Given the description of an element on the screen output the (x, y) to click on. 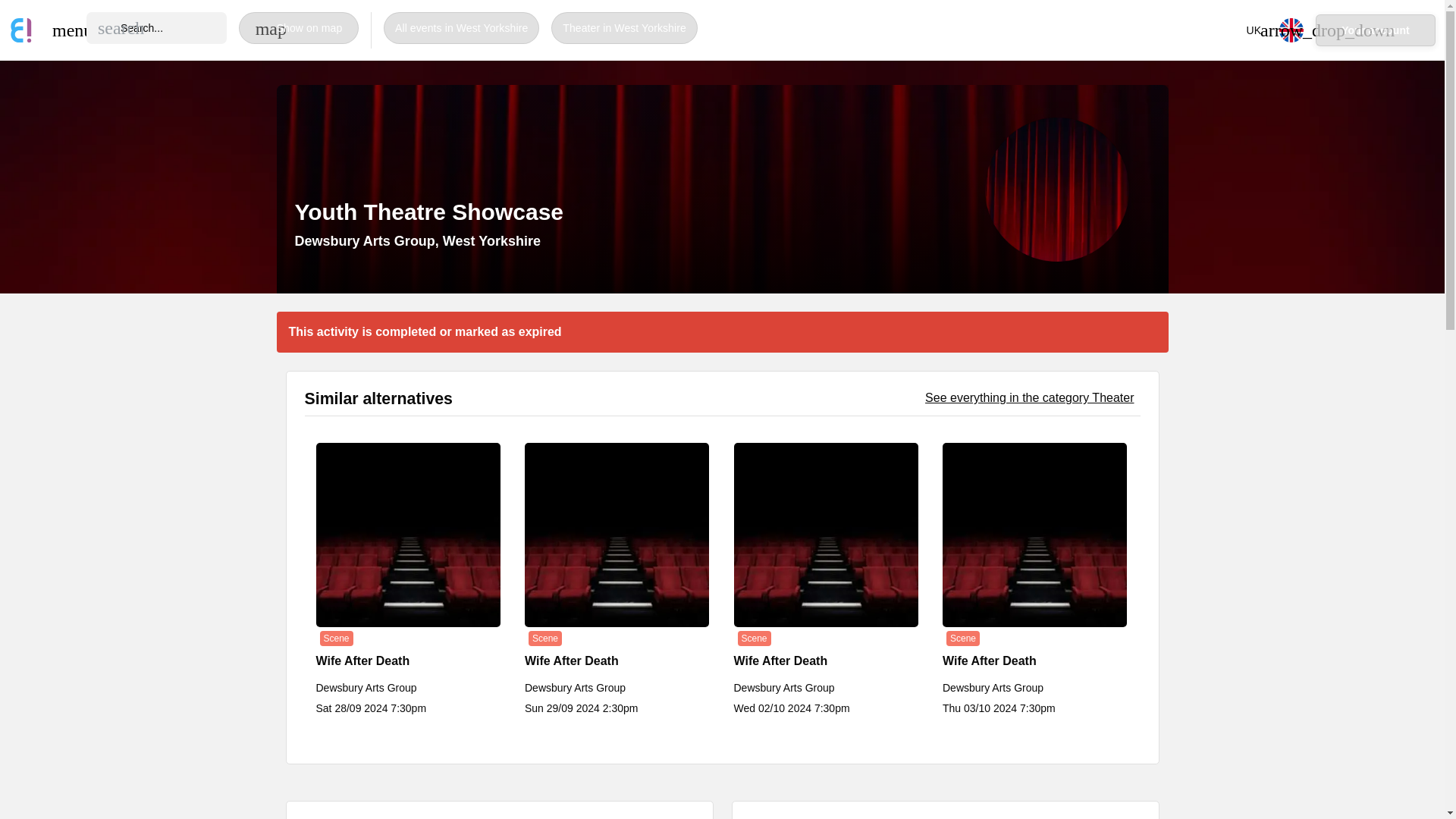
Show on google maps. (417, 240)
map Show on map (298, 28)
Dewsbury Arts Group, West Yorkshire (417, 240)
All events in West Yorkshire (461, 28)
See everything in the category Theater (1029, 397)
search (120, 26)
Theater in West Yorkshire (624, 28)
Your account (1375, 29)
menu (63, 30)
